Given the description of an element on the screen output the (x, y) to click on. 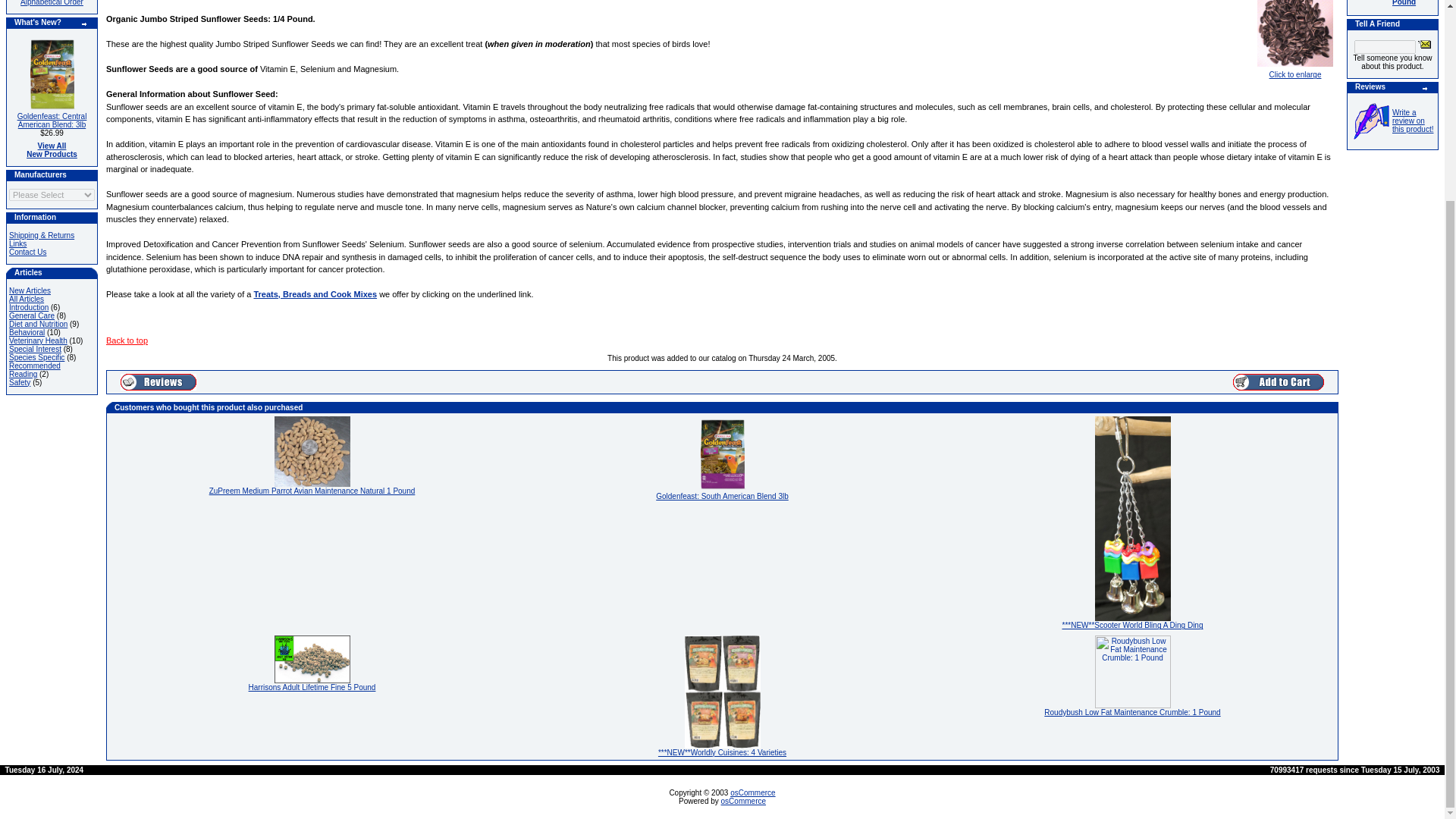
 Goldenfeast: South American Blend 3lb  (722, 454)
 Tell A Friend  (1424, 43)
 Harrisons Adult Lifetime Fine 5 Pound  (312, 658)
 Roudybush Low Fat Maintenance Crumble: 1 Pound  (1132, 671)
 Add to Cart  (1278, 381)
 Reviews  (158, 381)
 more  (1425, 88)
 Goldenfeast: Central American Blend: 3lb  (50, 74)
 more  (84, 23)
 ZuPreem Medium Parrot Avian Maintenance Natural 1 Pound  (312, 451)
